Given the description of an element on the screen output the (x, y) to click on. 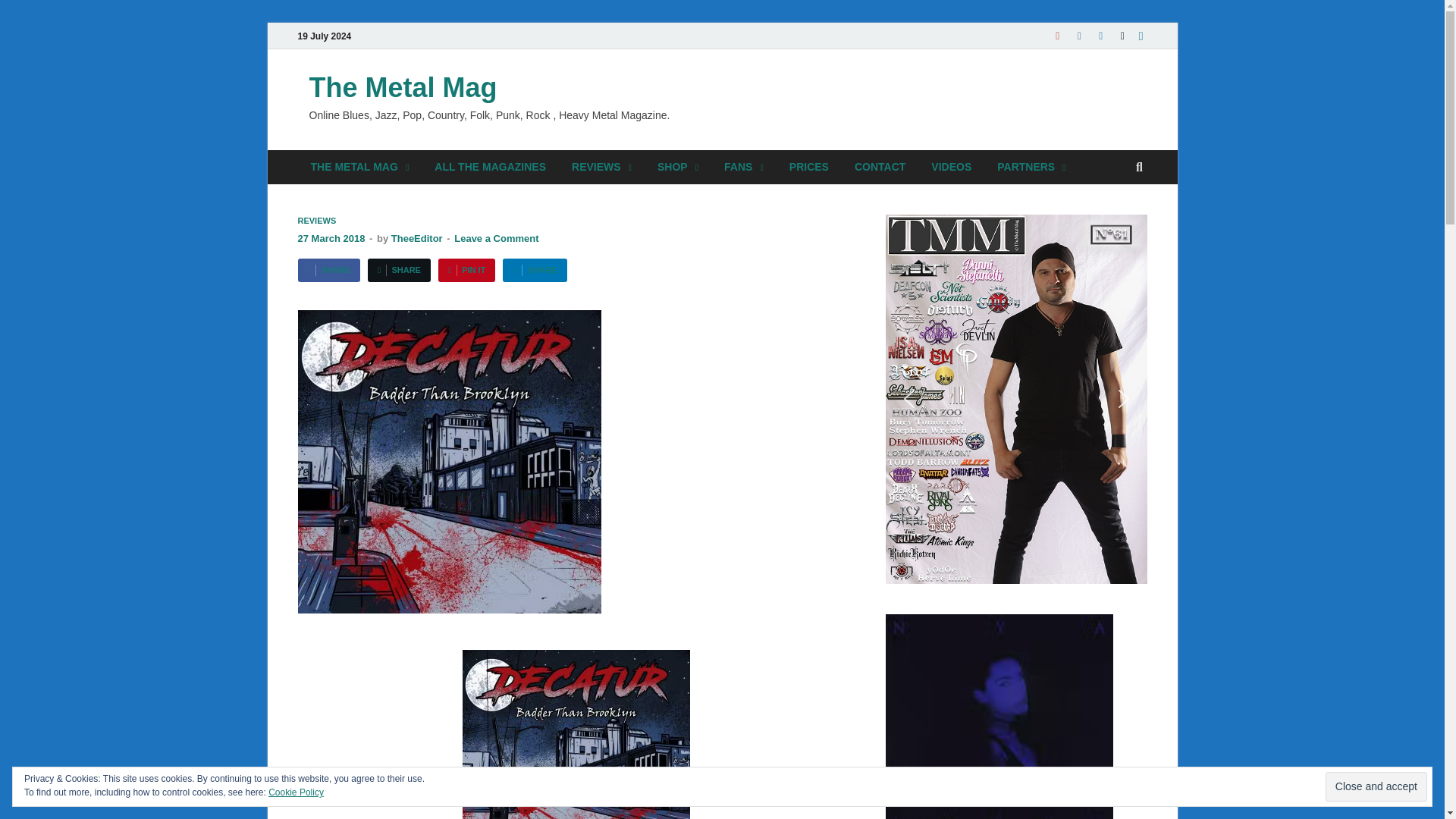
SHARE (328, 269)
FANS (743, 166)
THE METAL MAG (359, 166)
REVIEWS (316, 220)
ALL THE MAGAZINES (490, 166)
REVIEWS (602, 166)
PIN IT (466, 269)
SHOP (678, 166)
SHARE (399, 269)
Close and accept (1375, 786)
PRICES (808, 166)
PARTNERS (1031, 166)
CONTACT (879, 166)
SHARE (534, 269)
The Metal Mag (402, 87)
